Given the description of an element on the screen output the (x, y) to click on. 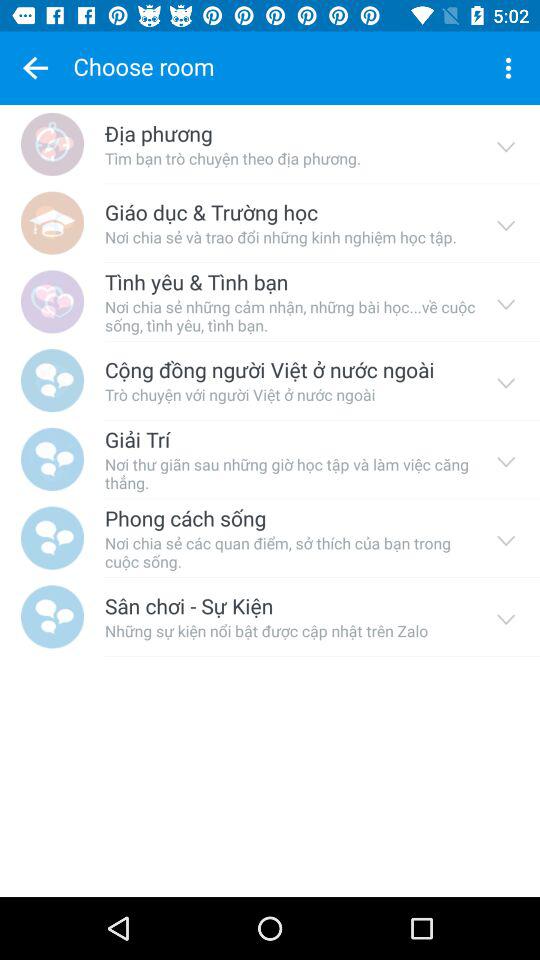
choose favourite symbol (35, 68)
